Given the description of an element on the screen output the (x, y) to click on. 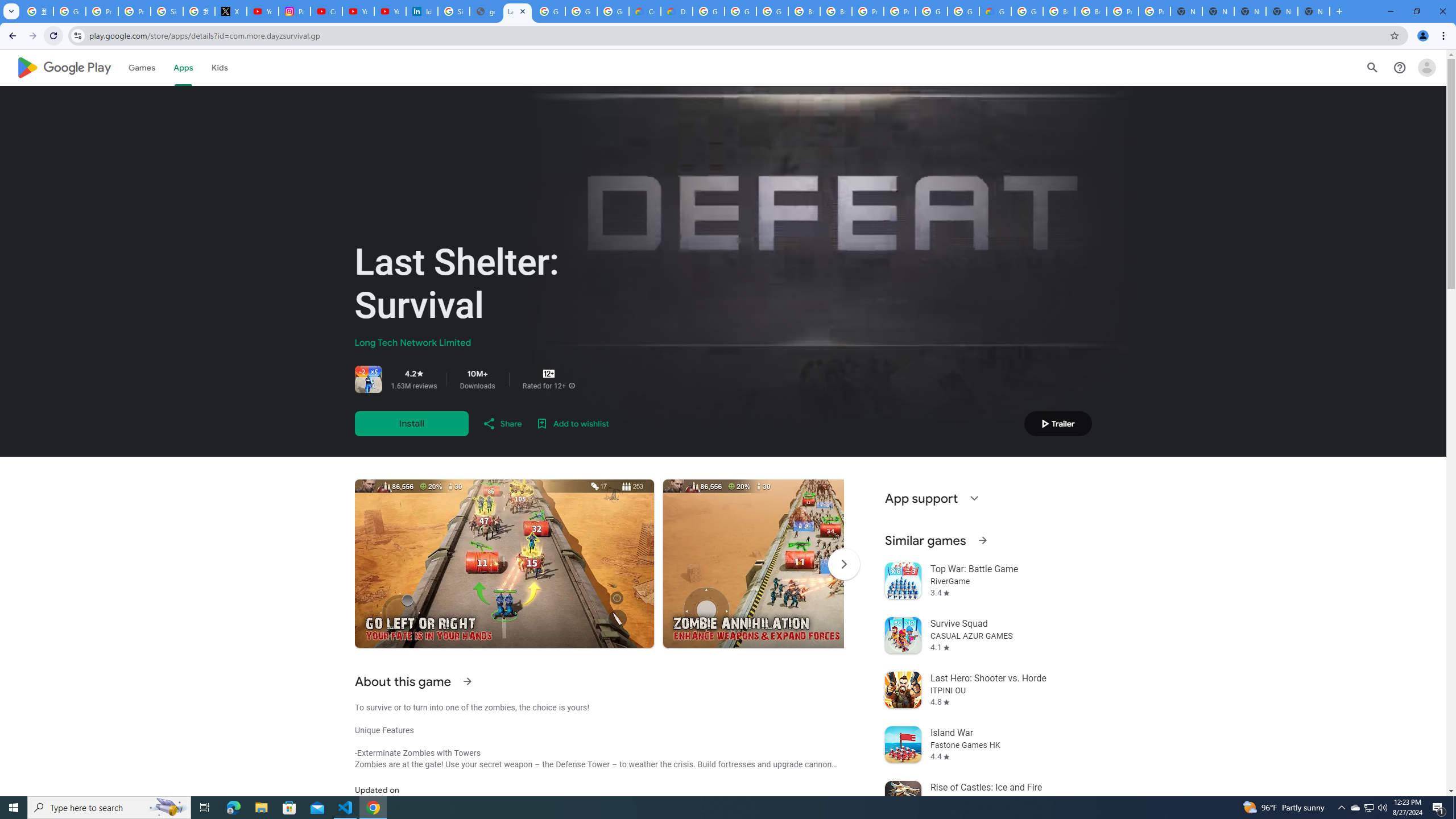
Browse Chrome as a guest - Computer - Google Chrome Help (1059, 11)
Google Cloud Platform (931, 11)
Expand (973, 497)
Content rating (549, 373)
